Given the description of an element on the screen output the (x, y) to click on. 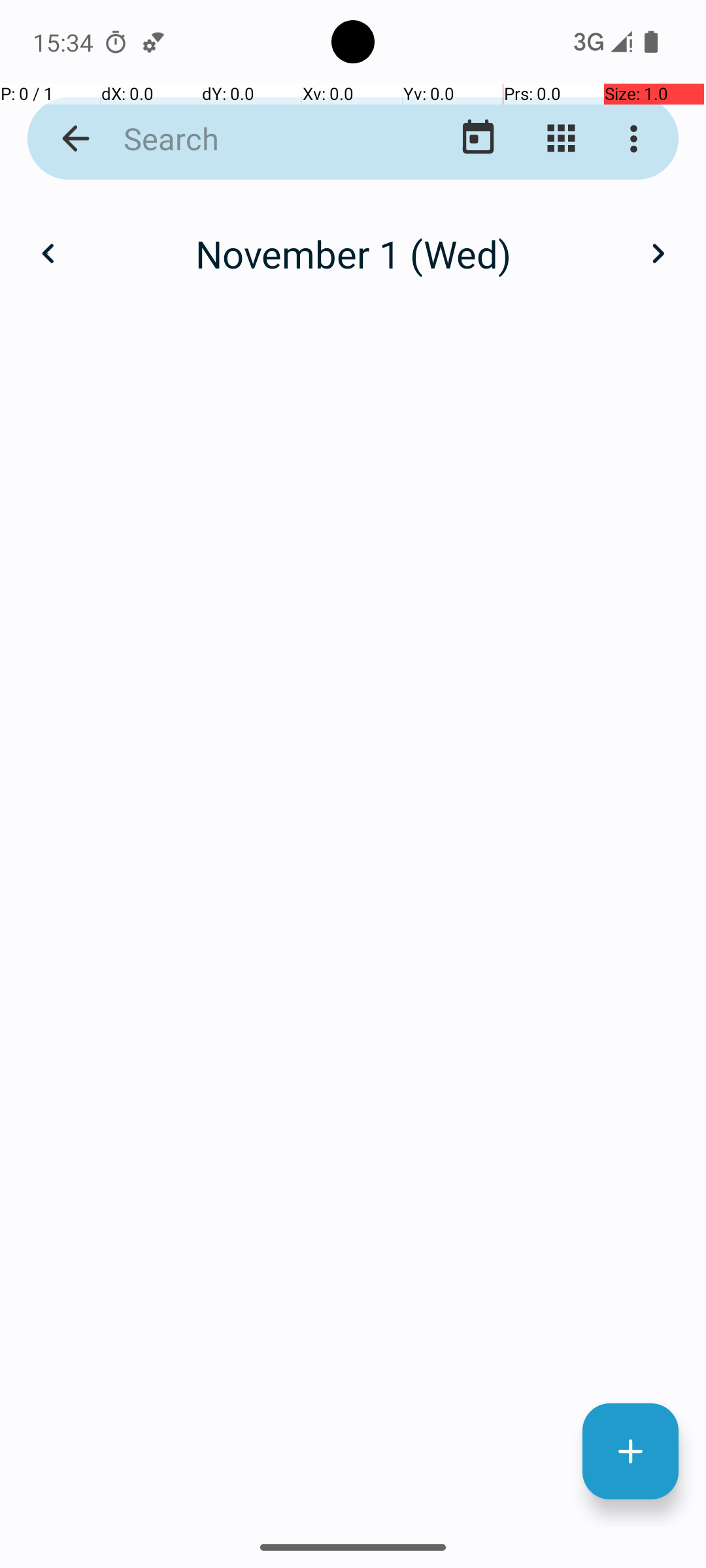
November 1 (Wed) Element type: android.widget.TextView (352, 253)
